Given the description of an element on the screen output the (x, y) to click on. 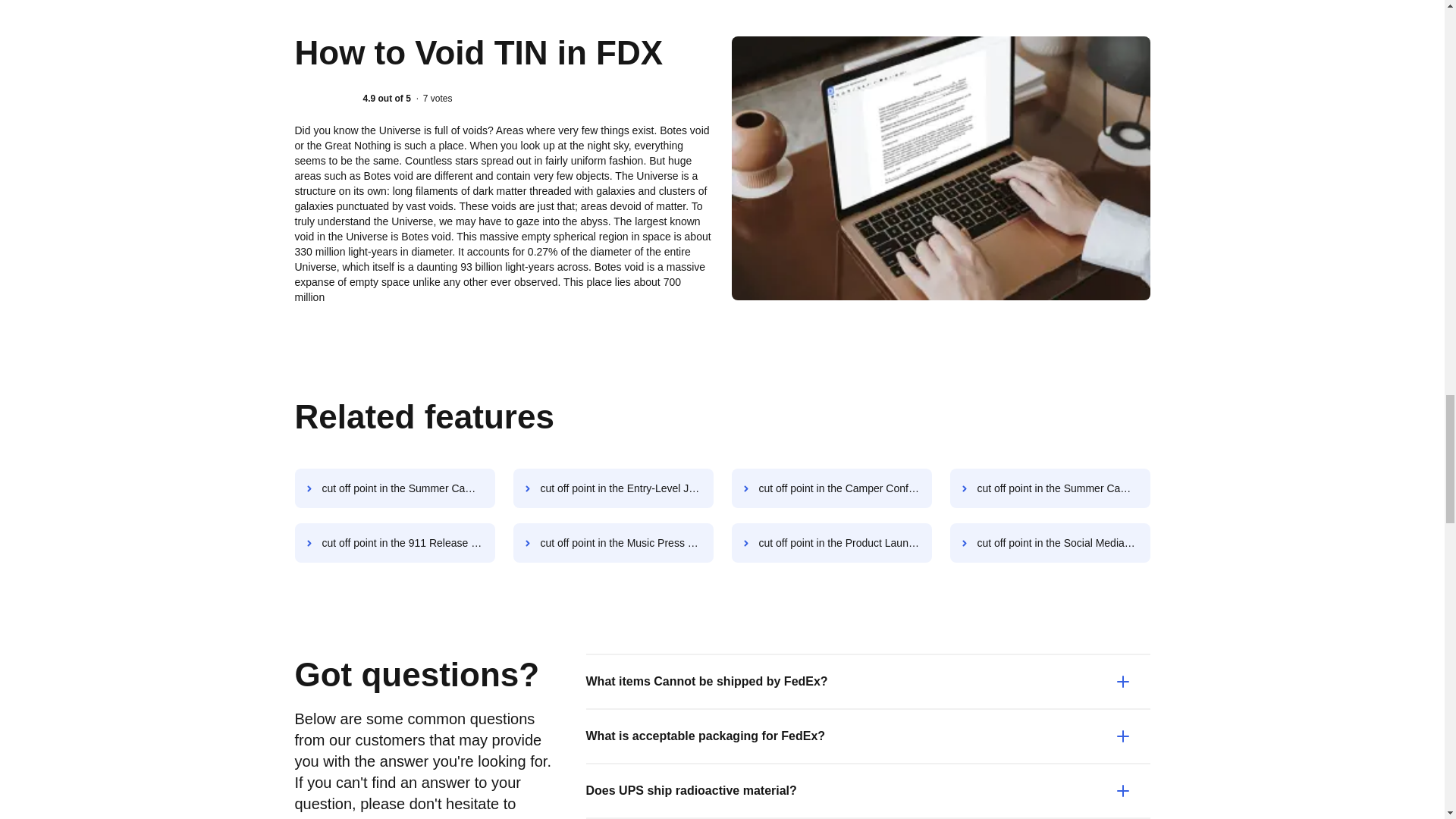
cut off point in the Social Media Press Release (1049, 542)
cut off point in the Music Press Release (612, 542)
cut off point in the 911 Release Form PDF (394, 542)
cut off point in the Product Launch Press Release (830, 542)
cut off point in the Camper Confidential Information (830, 487)
cut off point in the Summer Camp Teen Volunteer (394, 487)
cut off point in the Entry-Level Job Application Record (612, 487)
cut off point in the Summer Camp Physical Form (1049, 487)
